Given the description of an element on the screen output the (x, y) to click on. 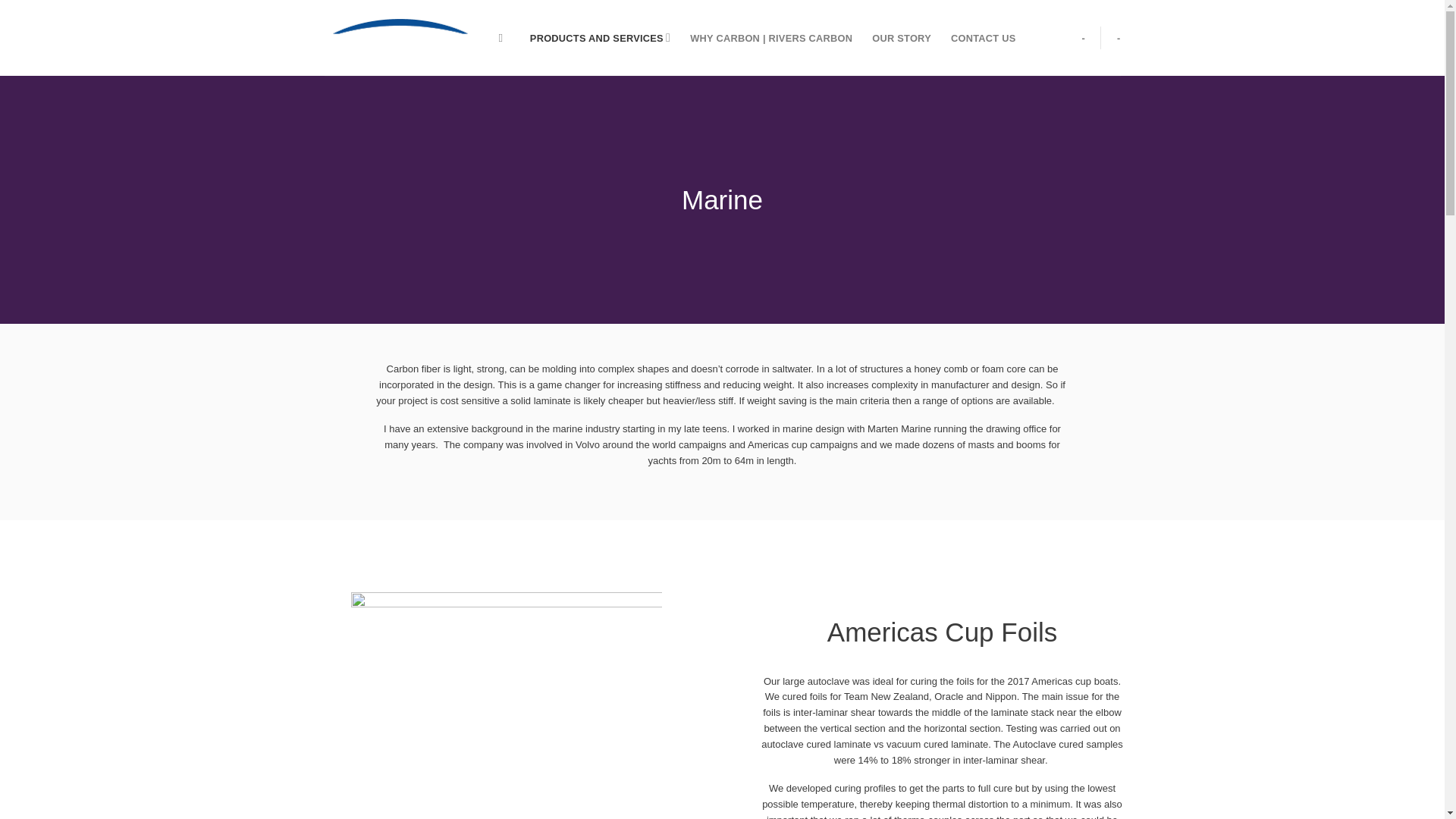
OUR STORY (901, 38)
Rivers Carbon - Carbon Composite Technology (400, 37)
CONTACT US (983, 38)
PRODUCTS AND SERVICES (599, 38)
